Given the description of an element on the screen output the (x, y) to click on. 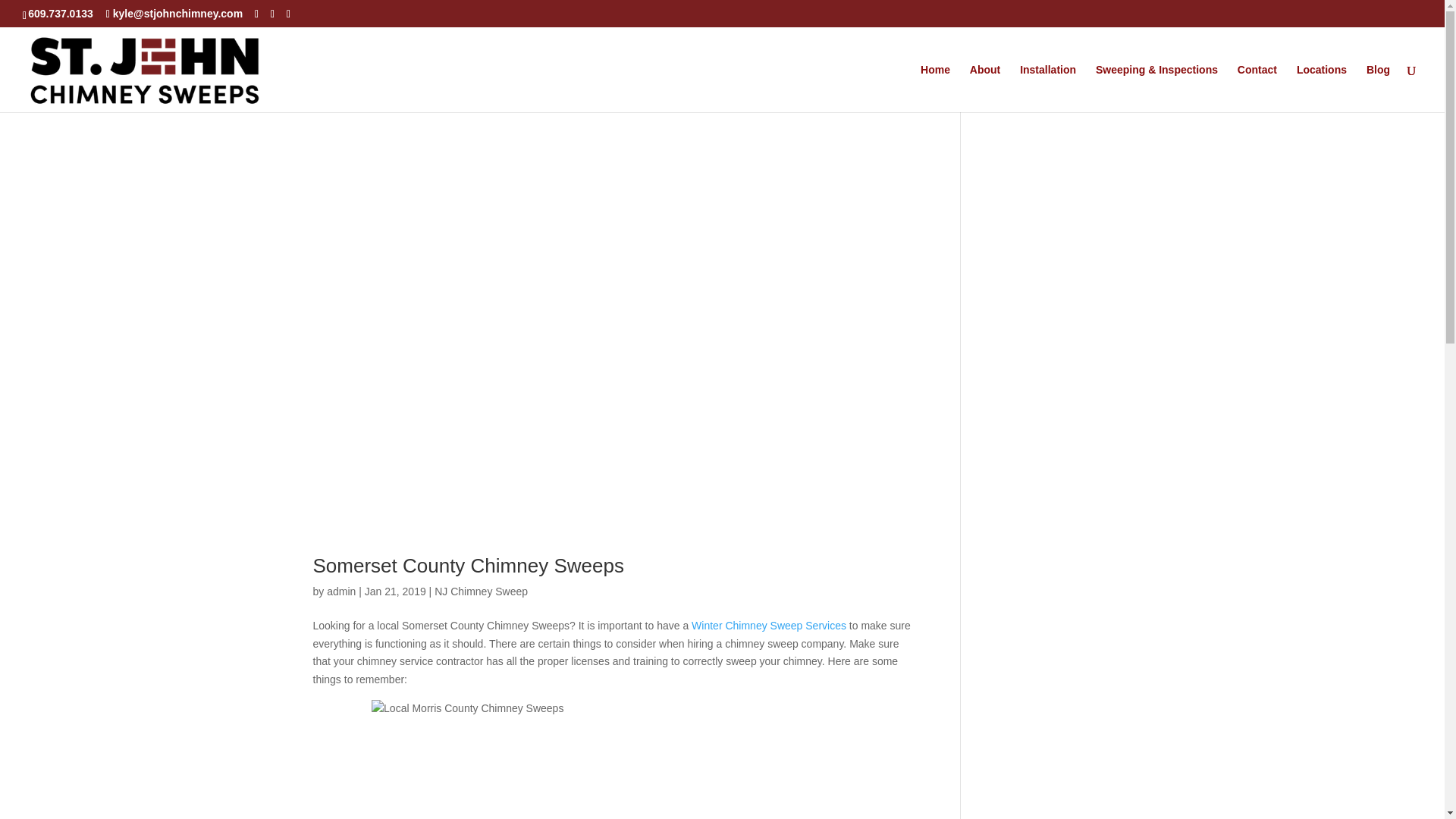
Contact (1256, 88)
Winter Chimney Sweep Services (768, 625)
Posts by admin (340, 591)
NJ Chimney Sweep (480, 591)
About (984, 88)
Blog (1378, 88)
Installation (1047, 88)
Home (935, 88)
admin (340, 591)
Somerset County Chimney Sweeps (468, 565)
Locations (1321, 88)
